Given the description of an element on the screen output the (x, y) to click on. 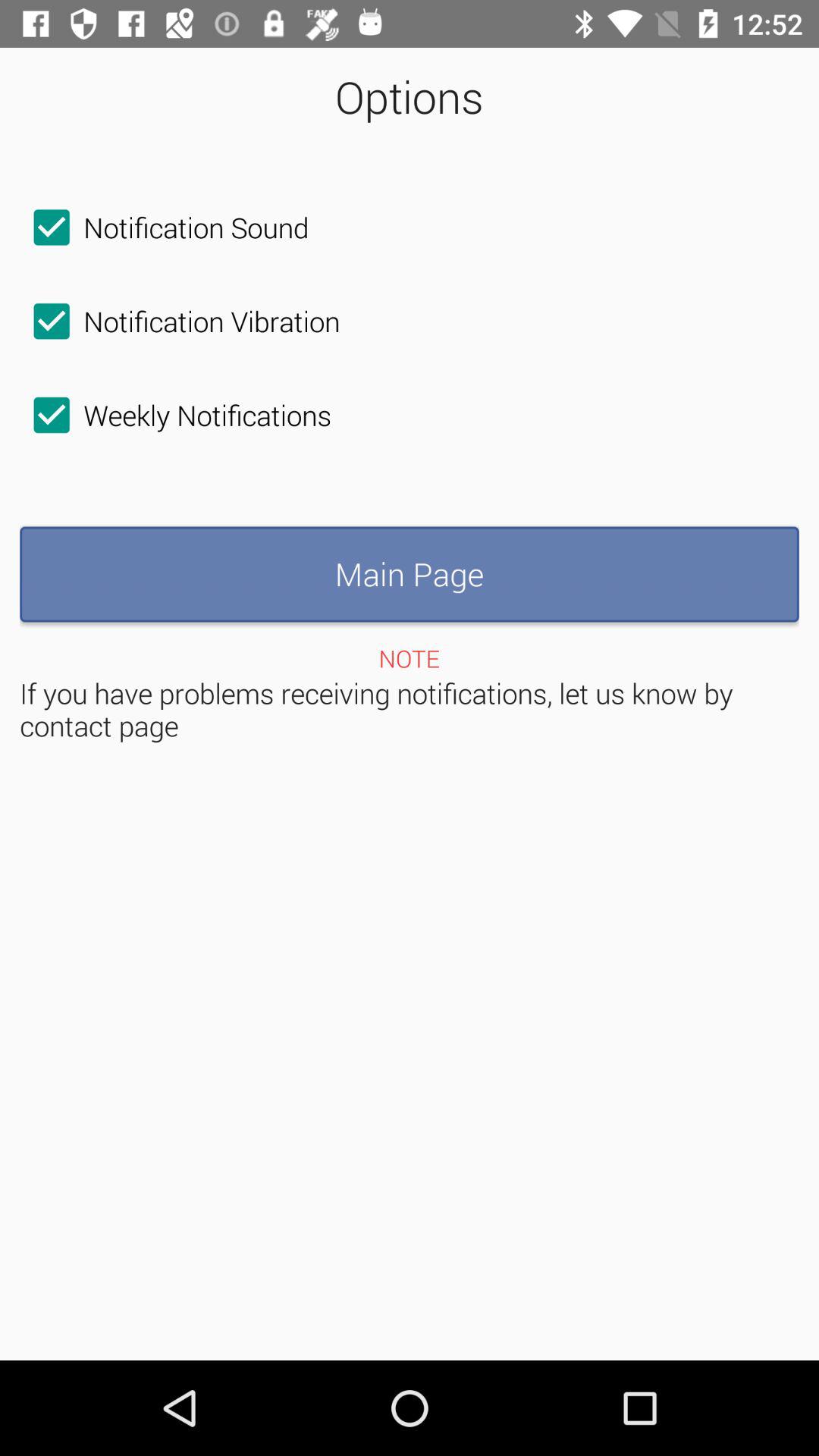
turn on icon below weekly notifications (409, 574)
